Given the description of an element on the screen output the (x, y) to click on. 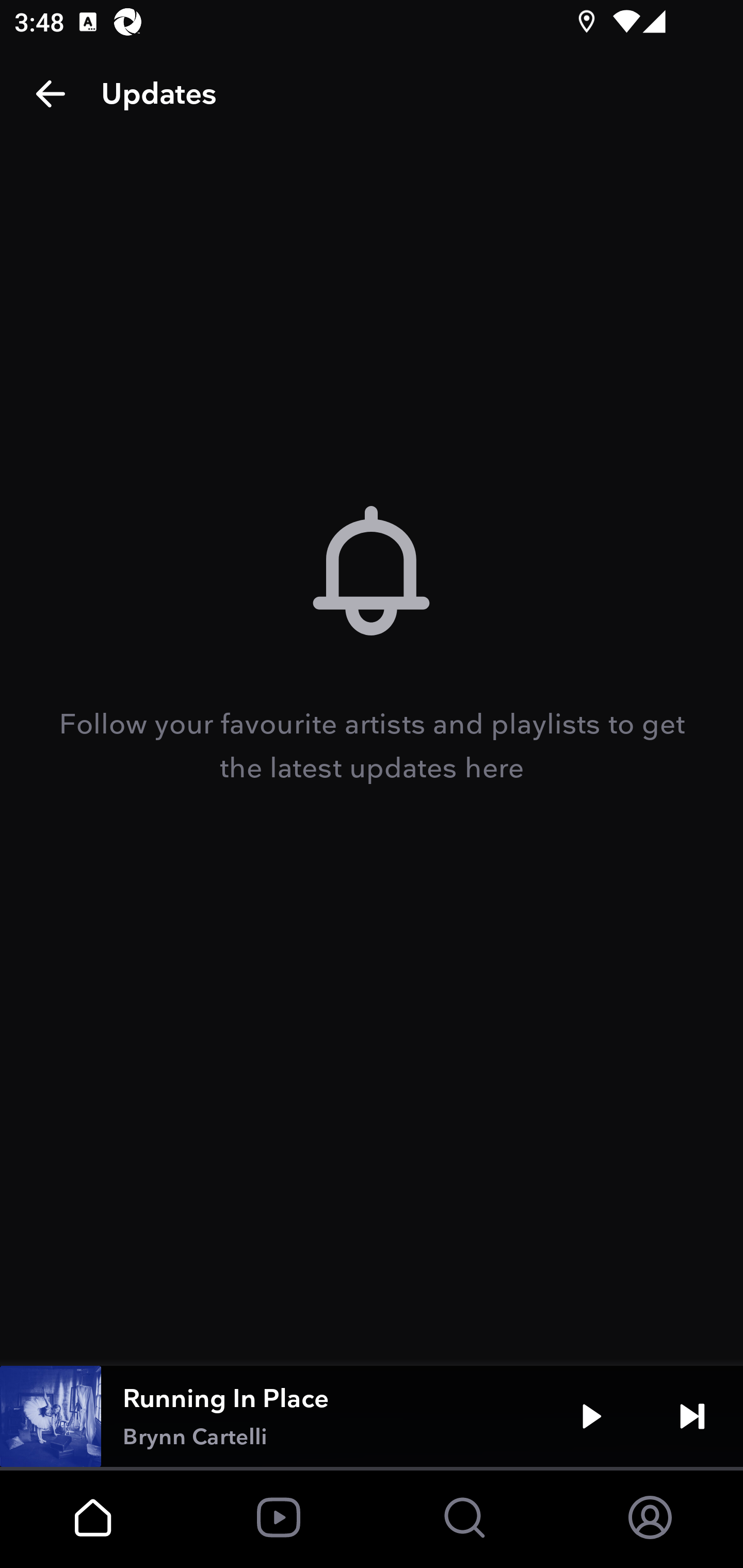
Running In Place Brynn Cartelli Play (371, 1416)
Play (590, 1416)
